Given the description of an element on the screen output the (x, y) to click on. 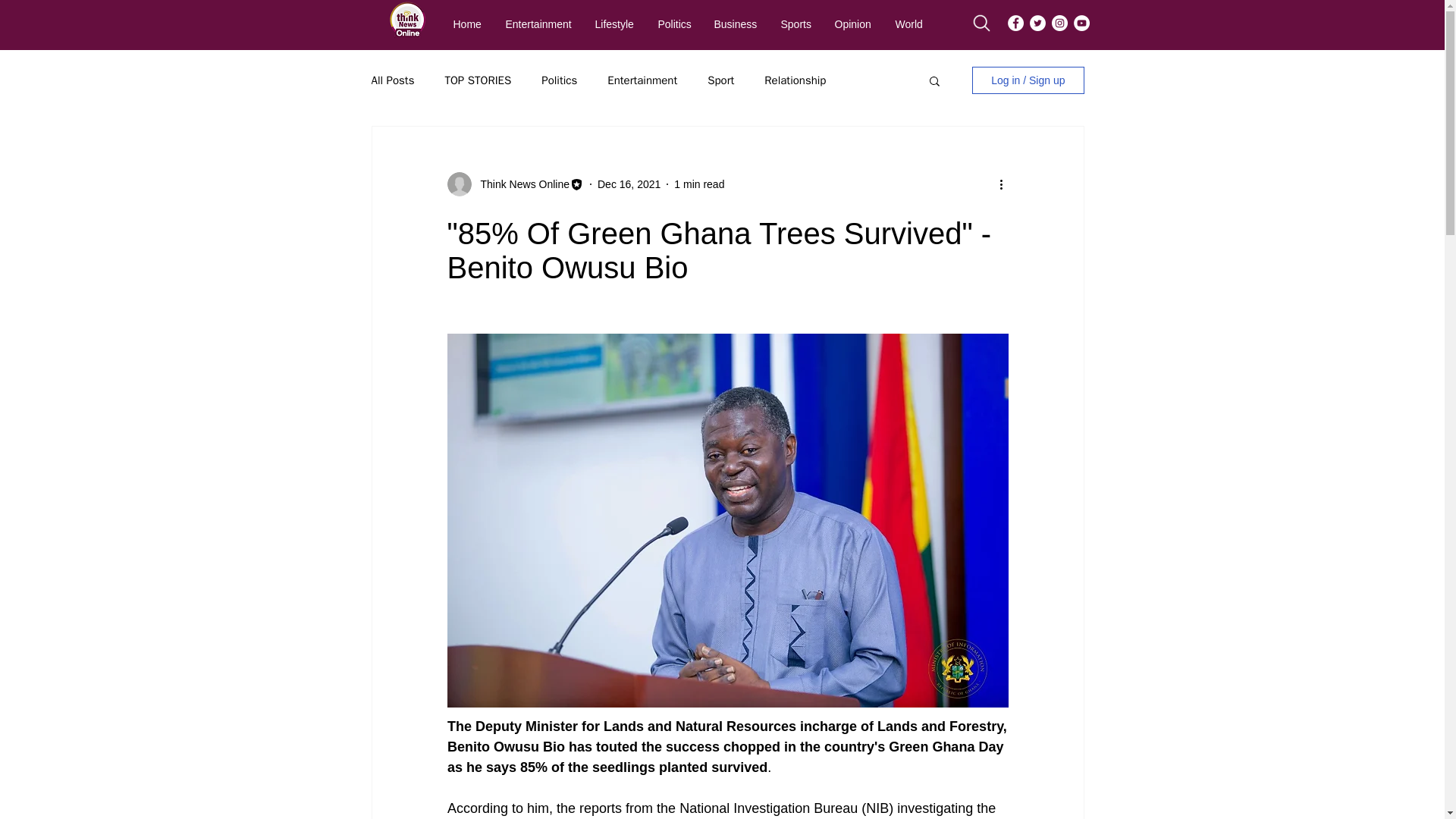
Home (467, 24)
Business (734, 24)
Sport (720, 79)
Politics (558, 79)
Sports (795, 24)
1 min read (698, 183)
Relationship (794, 79)
Lifestyle (613, 24)
Entertainment (537, 24)
Think News Online (520, 183)
World (907, 24)
Opinion (852, 24)
fgbnfghfghhf.png (407, 20)
TOP STORIES (477, 79)
All Posts (392, 79)
